Given the description of an element on the screen output the (x, y) to click on. 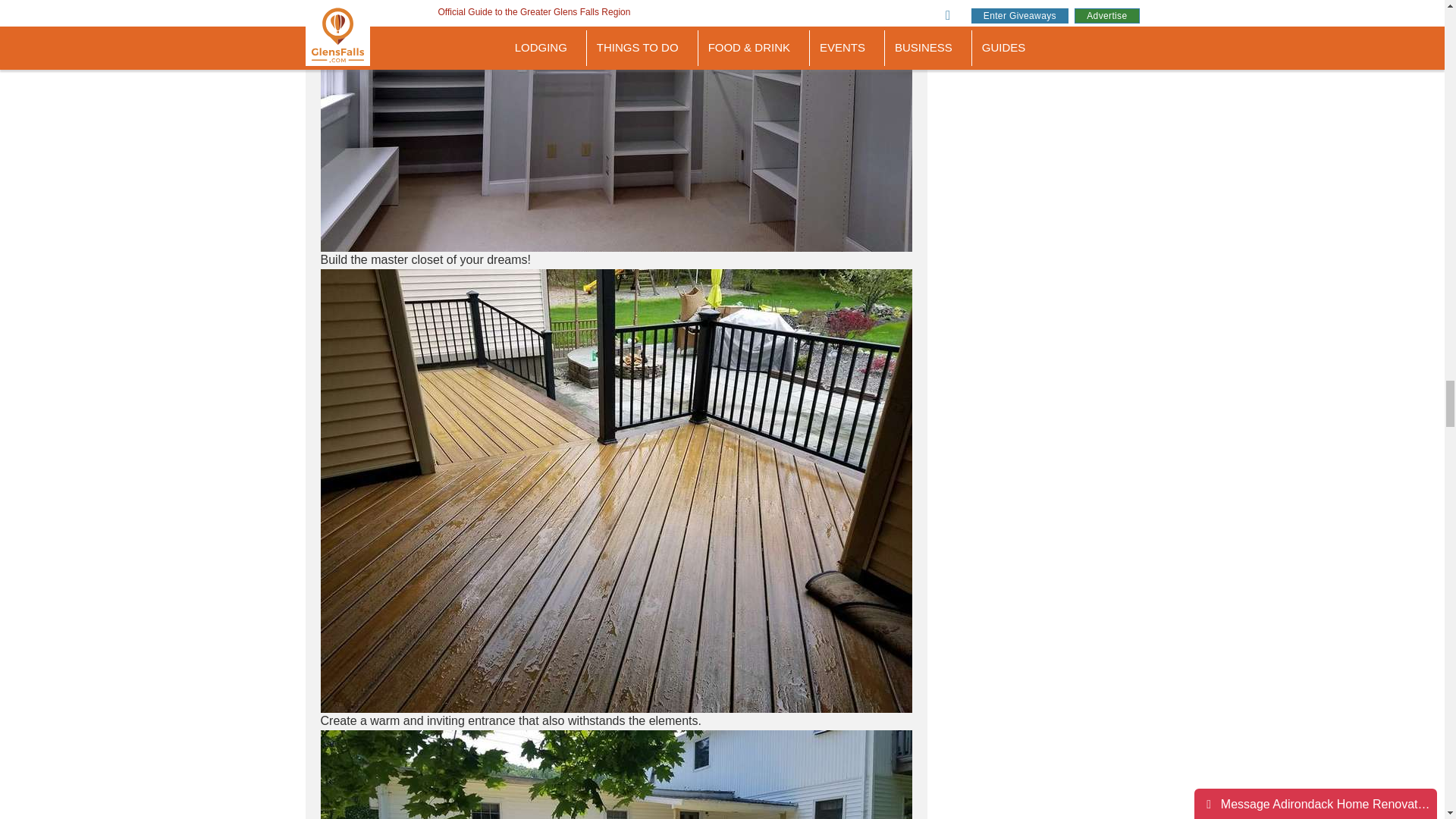
Summer Living! (615, 774)
